Given the description of an element on the screen output the (x, y) to click on. 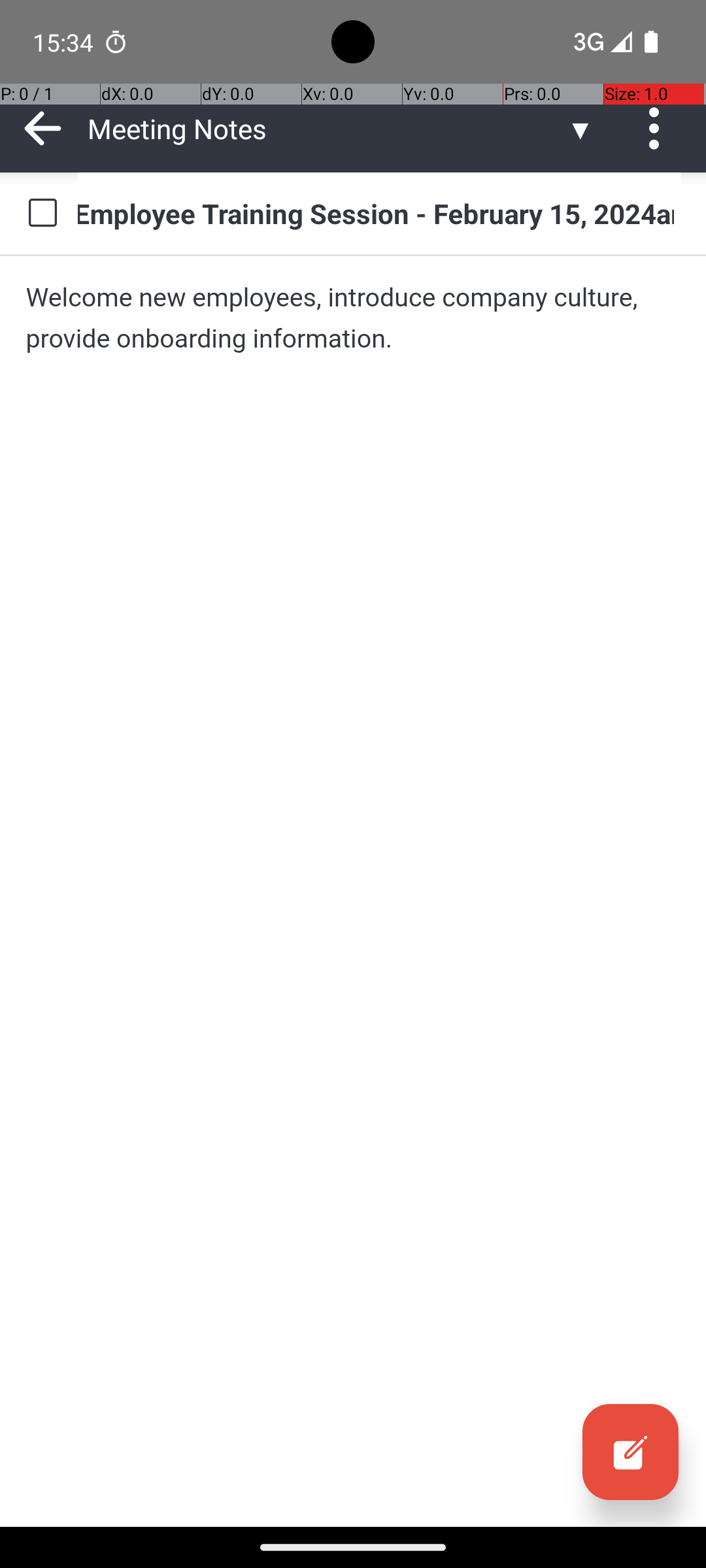
New Hire Orientation - JEmployee Training Session - February 15, 2024anuary 10, 2024 Element type: android.widget.EditText (378, 213)
Welcome new employees, introduce company culture, provide onboarding information. Element type: android.widget.TextView (352, 317)
